Given the description of an element on the screen output the (x, y) to click on. 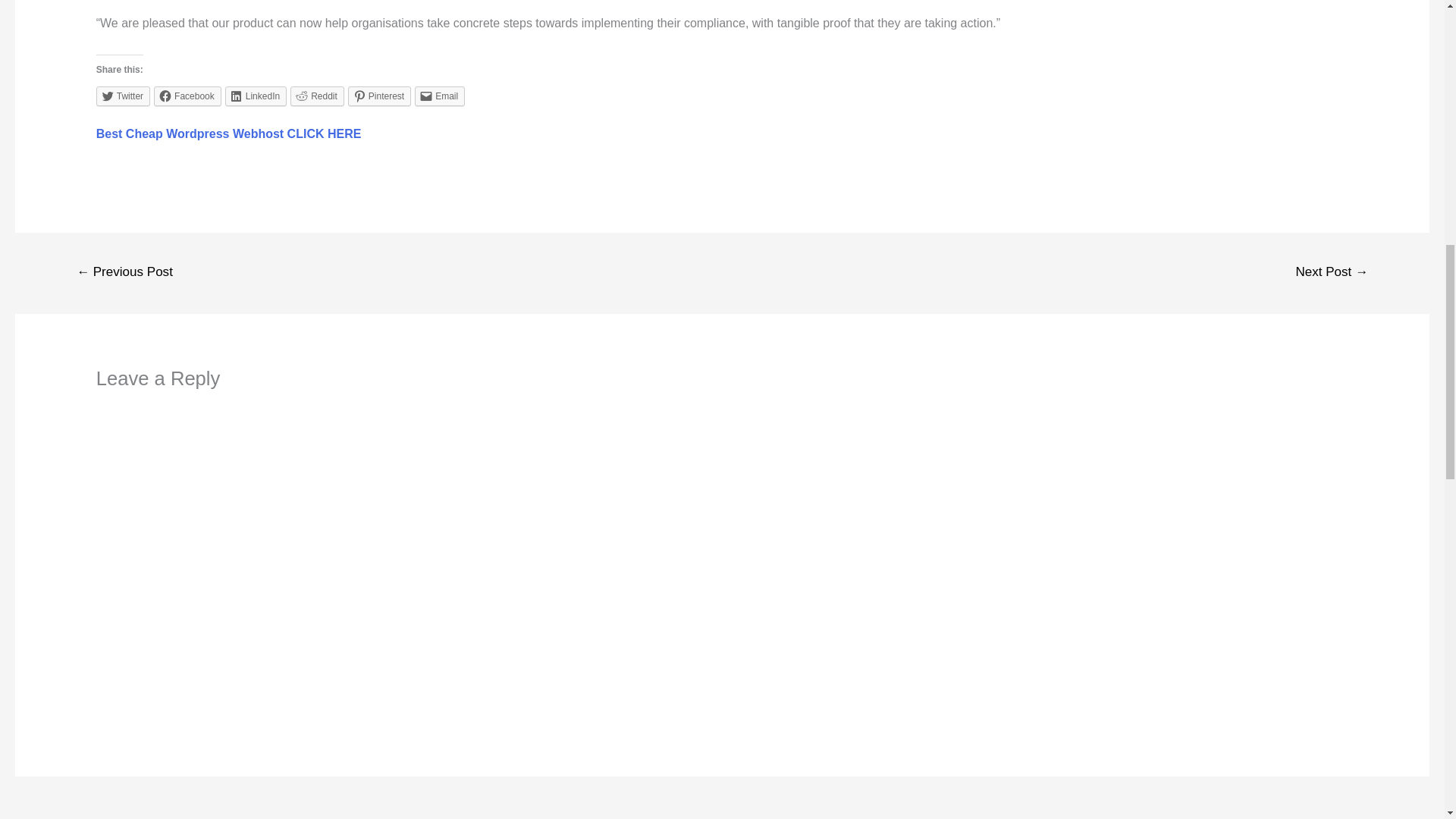
LinkedIn (255, 96)
Click to share on Facebook (187, 96)
Pinterest (378, 96)
Facebook (187, 96)
Twitter (122, 96)
Reddit (316, 96)
Click to share on Twitter (122, 96)
Email (439, 96)
Click to email a link to a friend (439, 96)
Click to share on Pinterest (378, 96)
Click to share on Reddit (316, 96)
Best Cheap Wordpress Webhost CLICK HERE (228, 133)
Click to share on LinkedIn (255, 96)
